Given the description of an element on the screen output the (x, y) to click on. 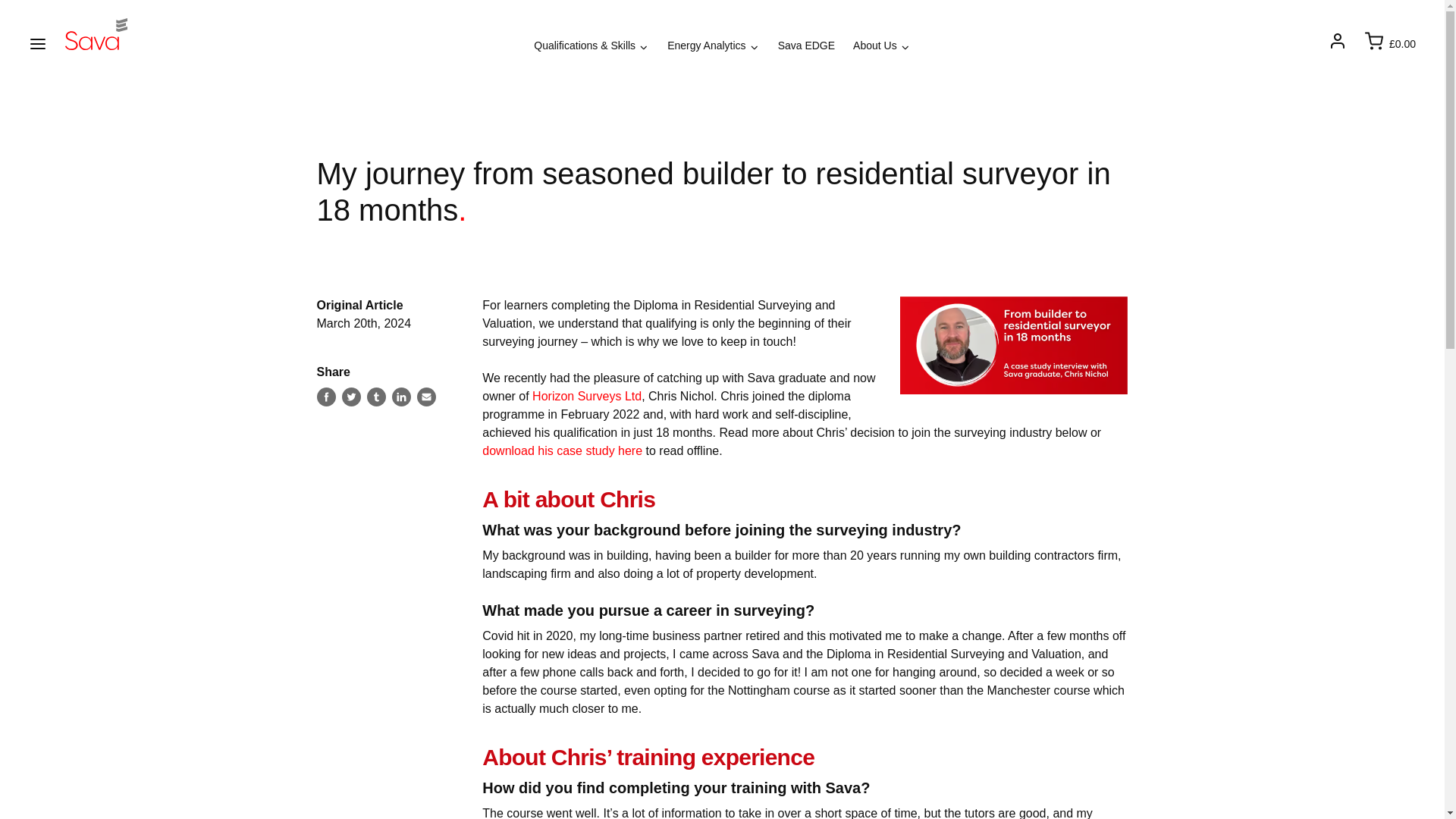
Sava (96, 33)
Share on Facebook (326, 396)
Home (96, 33)
Share via email (425, 396)
